Given the description of an element on the screen output the (x, y) to click on. 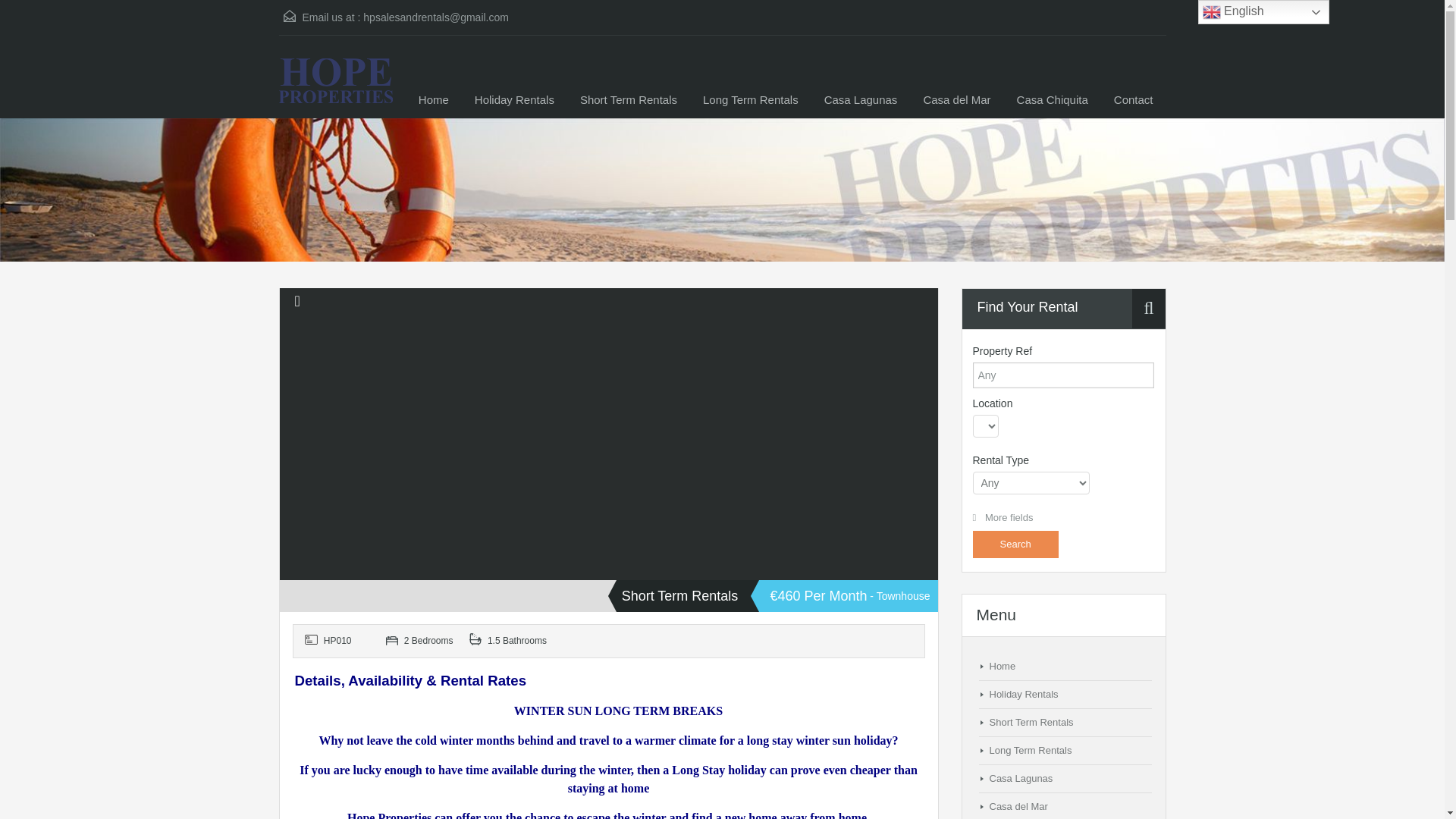
Casa Chiquita (1052, 99)
Hope Properties in Spain (336, 87)
Contact (1133, 99)
Casa del Mar (956, 99)
Property ID (339, 640)
Home (433, 99)
Casa Lagunas (860, 99)
Long Term Rentals (750, 99)
Short Term Rentals (628, 99)
Holiday Rentals (514, 99)
Search (1015, 543)
